Given the description of an element on the screen output the (x, y) to click on. 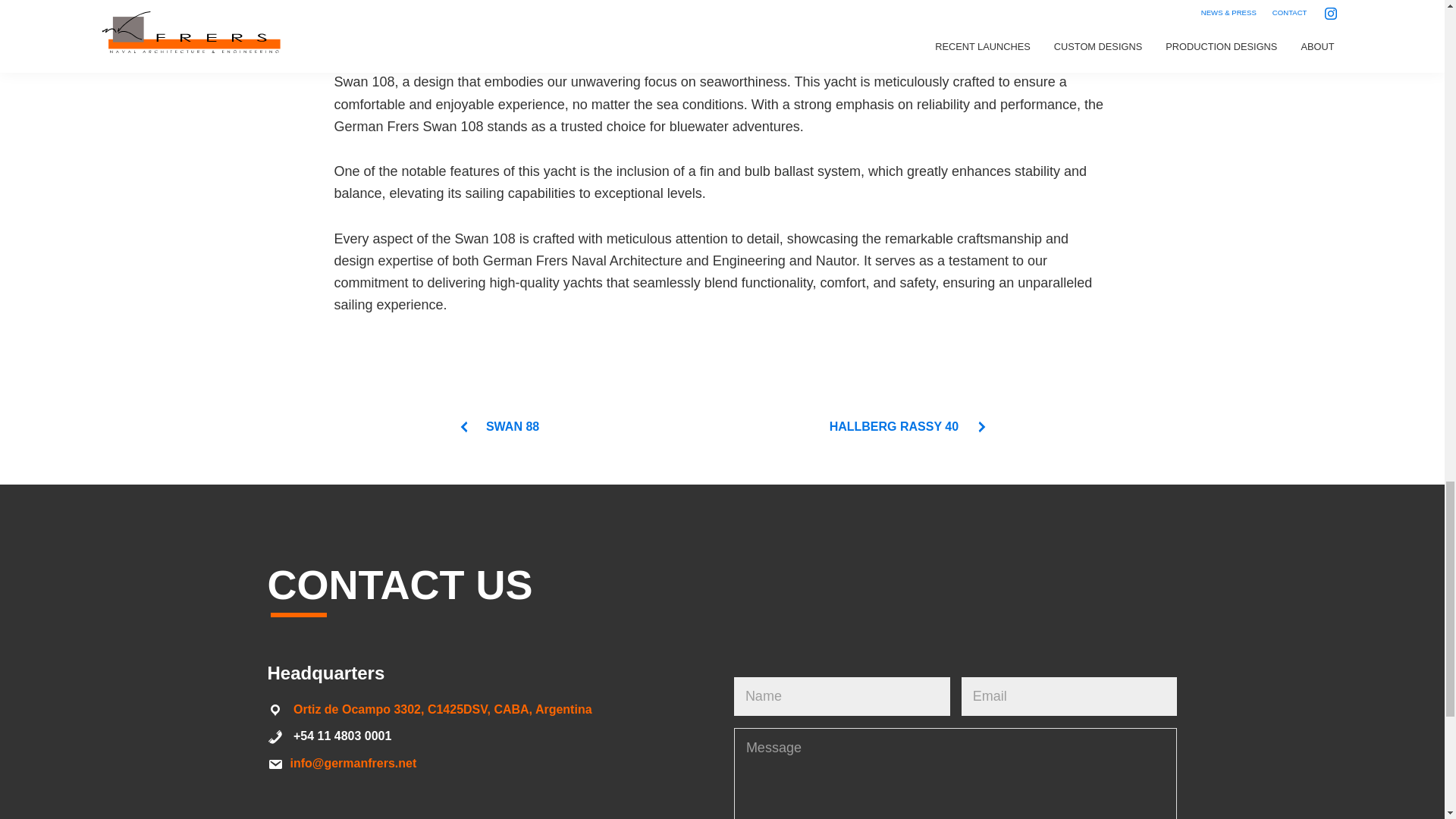
Ortiz de Ocampo 3302, C1425DSV, CABA, Argentina (443, 708)
SWAN 88 (498, 426)
HALLBERG RASSY 40 (908, 426)
